Given the description of an element on the screen output the (x, y) to click on. 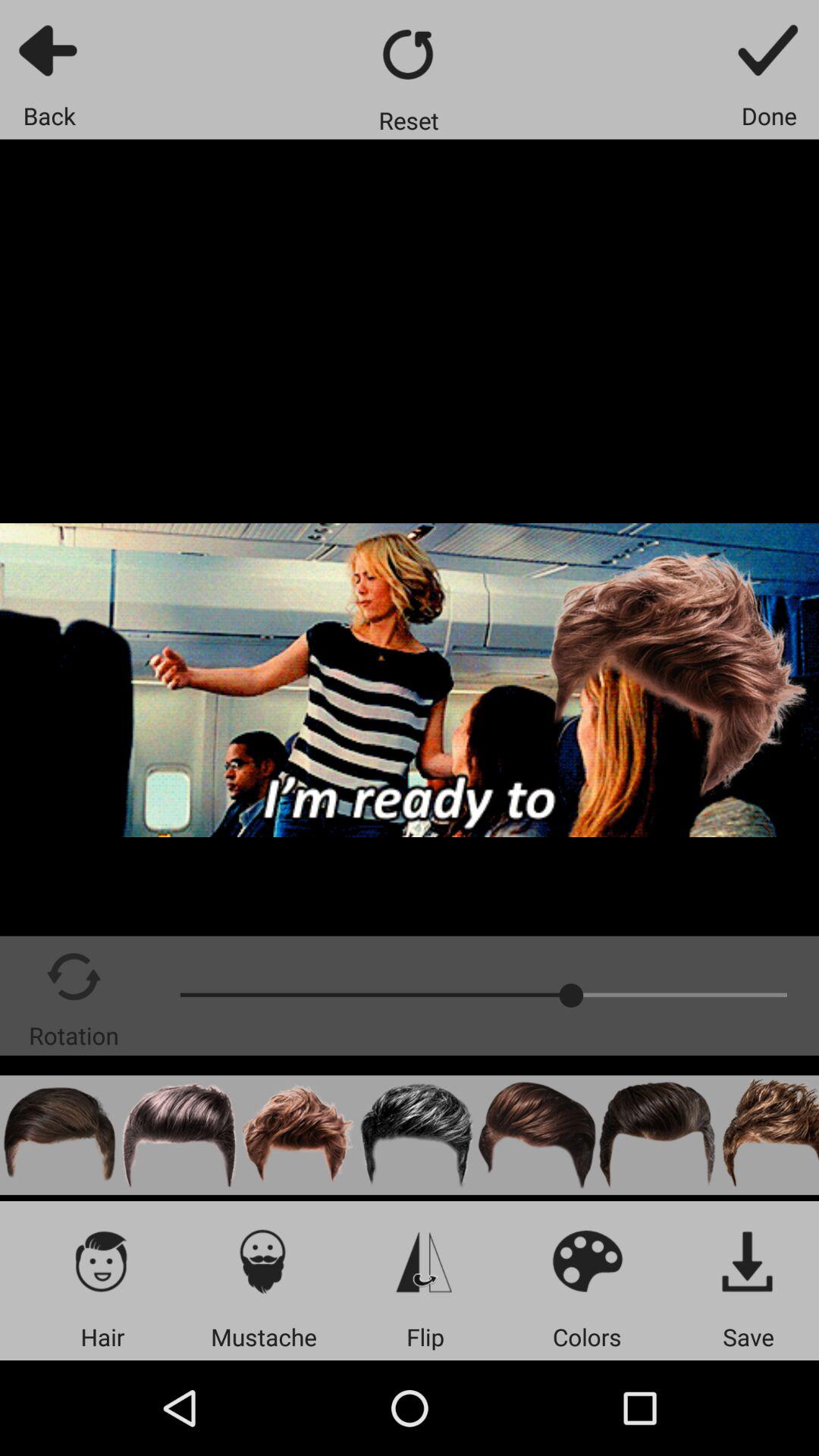
backward (49, 49)
